Given the description of an element on the screen output the (x, y) to click on. 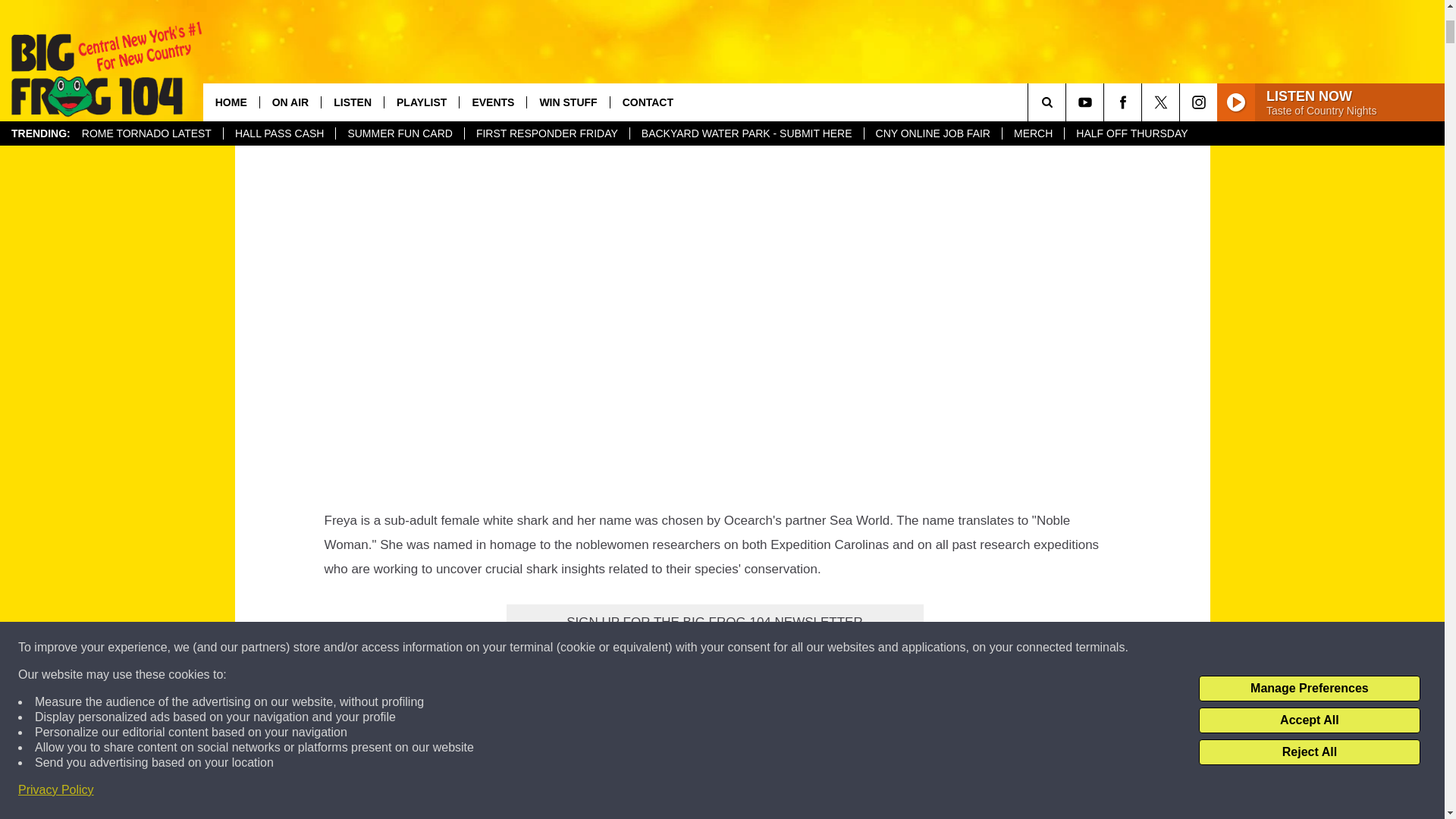
Email Address (714, 651)
